Given the description of an element on the screen output the (x, y) to click on. 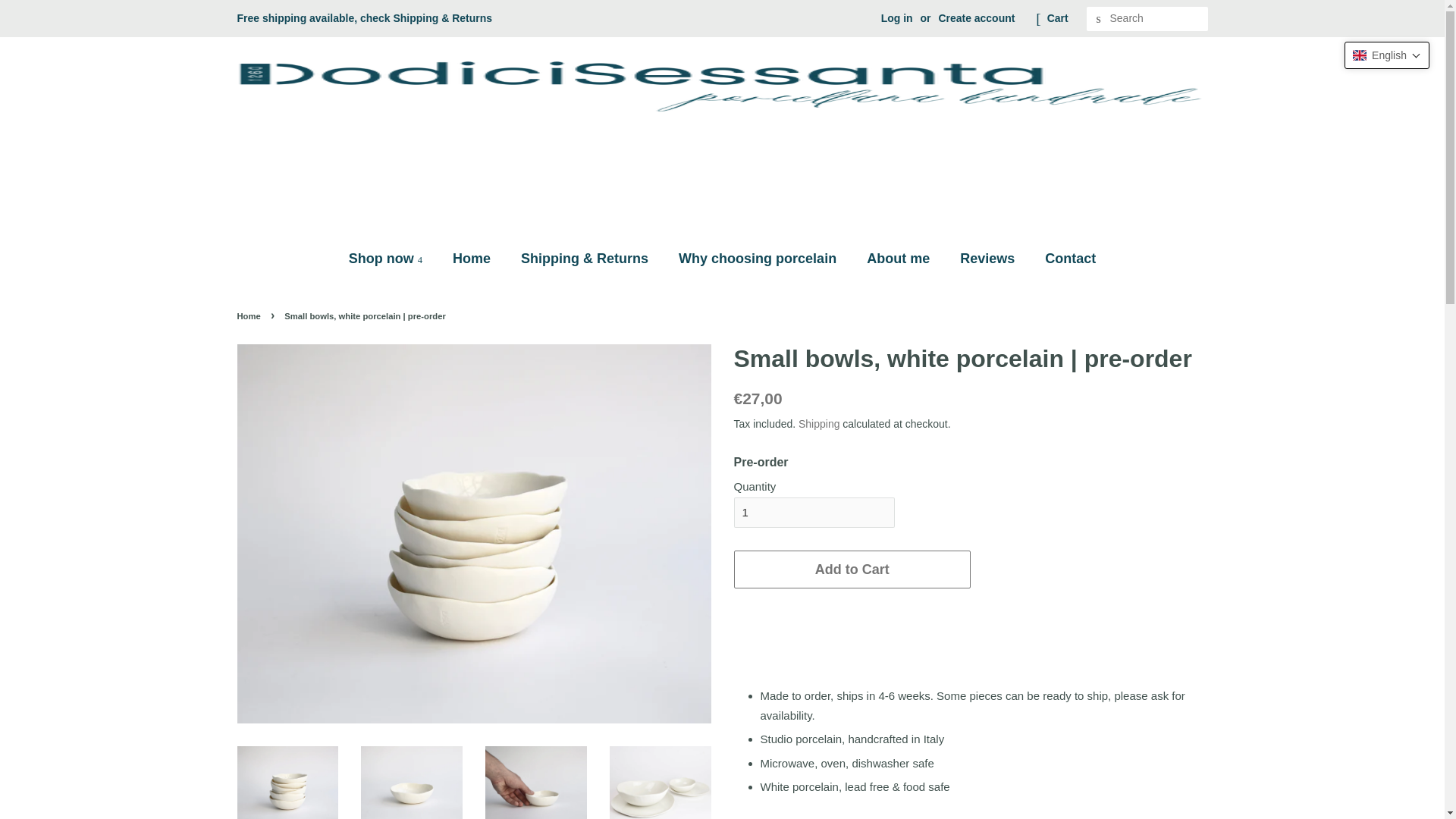
Home (473, 258)
Reviews (989, 258)
Contact (1064, 258)
1 (814, 512)
Search (1097, 18)
About me (900, 258)
Log in (896, 18)
Home (249, 316)
Back to the frontpage (249, 316)
Create account (975, 18)
Shop now (393, 258)
Why choosing porcelain (758, 258)
Cart (1057, 18)
